Given the description of an element on the screen output the (x, y) to click on. 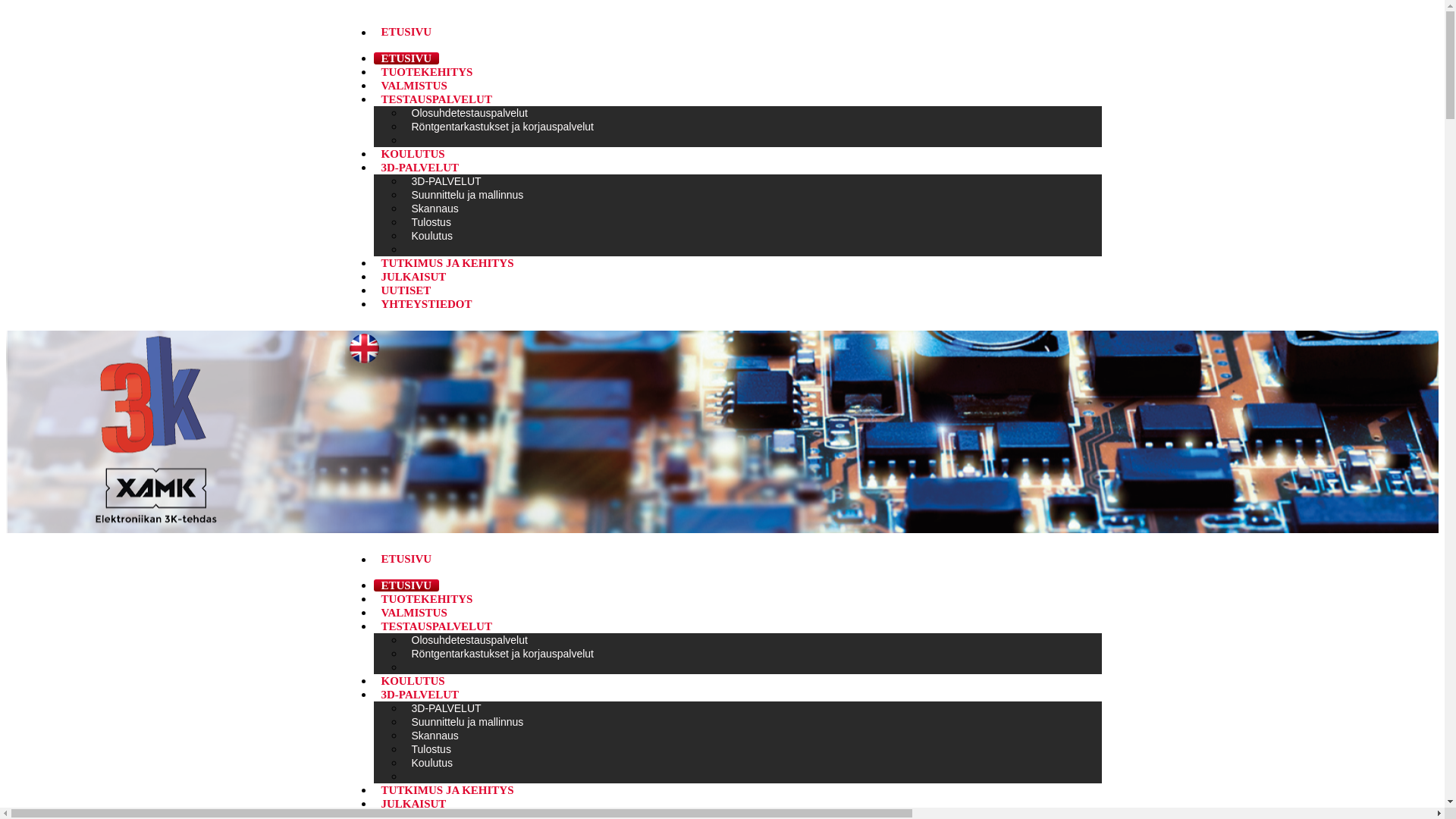
ETUSIVU  Element type: text (737, 32)
UUTISET Element type: text (405, 290)
KOULUTUS Element type: text (412, 153)
VALMISTUS Element type: text (413, 612)
Skannaus Element type: text (434, 735)
3D-PALVELUT Element type: text (445, 707)
Olosuhdetestauspalvelut Element type: text (468, 112)
Tulostus Element type: text (430, 748)
ETUSIVU  Element type: text (737, 559)
TUOTEKEHITYS Element type: text (426, 71)
Koulutus Element type: text (431, 235)
Olosuhdetestauspalvelut Element type: text (468, 639)
JULKAISUT Element type: text (413, 803)
JULKAISUT Element type: text (413, 276)
Suunnittelu ja mallinnus Element type: text (466, 194)
ETUSIVU Element type: text (406, 585)
Koulutus Element type: text (431, 762)
TESTAUSPALVELUT Element type: text (435, 626)
TUOTEKEHITYS Element type: text (426, 599)
3D-PALVELUT Element type: text (445, 180)
KOULUTUS Element type: text (412, 680)
Tulostus Element type: text (430, 221)
TUTKIMUS JA KEHITYS Element type: text (446, 263)
ETUSIVU  Element type: text (407, 31)
ETUSIVU  Element type: text (407, 558)
VALMISTUS Element type: text (413, 85)
Skannaus Element type: text (434, 208)
TESTAUSPALVELUT Element type: text (435, 99)
TUTKIMUS JA KEHITYS Element type: text (446, 790)
Suunnittelu ja mallinnus Element type: text (466, 721)
3D-PALVELUT Element type: text (419, 167)
3D-PALVELUT Element type: text (419, 694)
YHTEYSTIEDOT Element type: text (426, 304)
ETUSIVU Element type: text (406, 58)
